Given the description of an element on the screen output the (x, y) to click on. 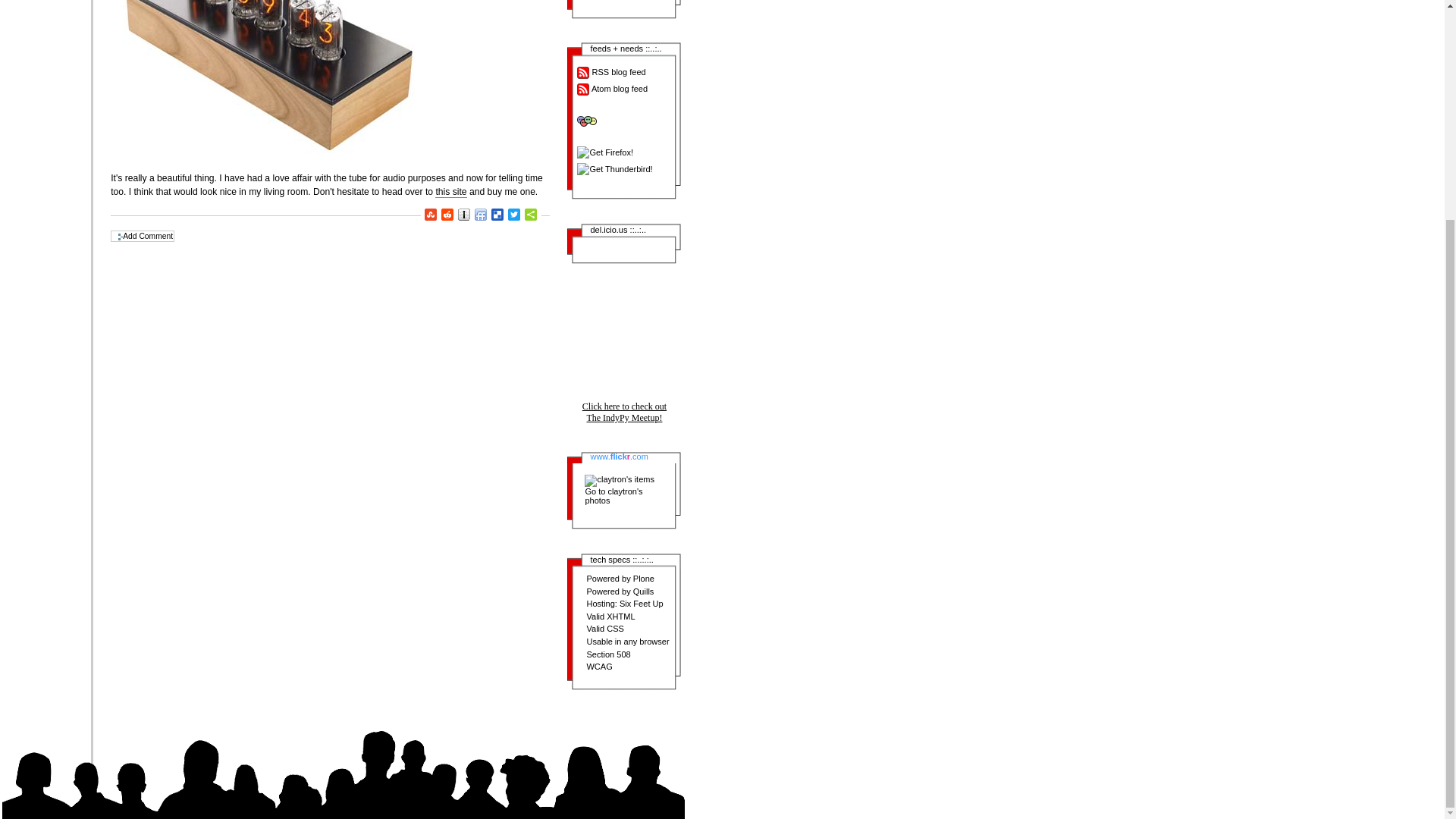
this site (450, 192)
nixie clock (271, 82)
Add Comment (142, 235)
Add Comment (142, 235)
